Given the description of an element on the screen output the (x, y) to click on. 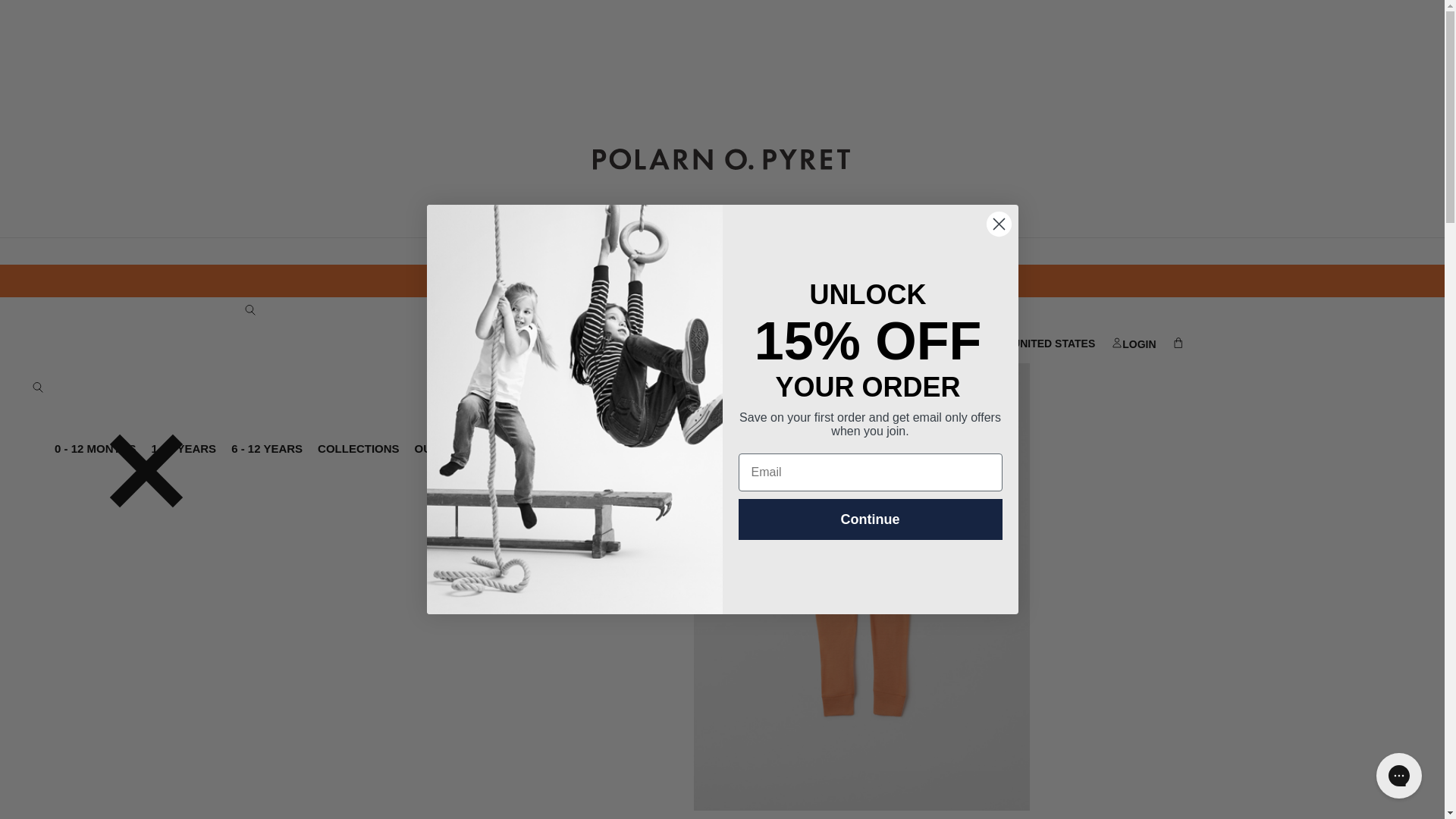
LOGIN (1133, 344)
UNITED STATES (1044, 343)
0 - 12 MONTHS (95, 448)
